Given the description of an element on the screen output the (x, y) to click on. 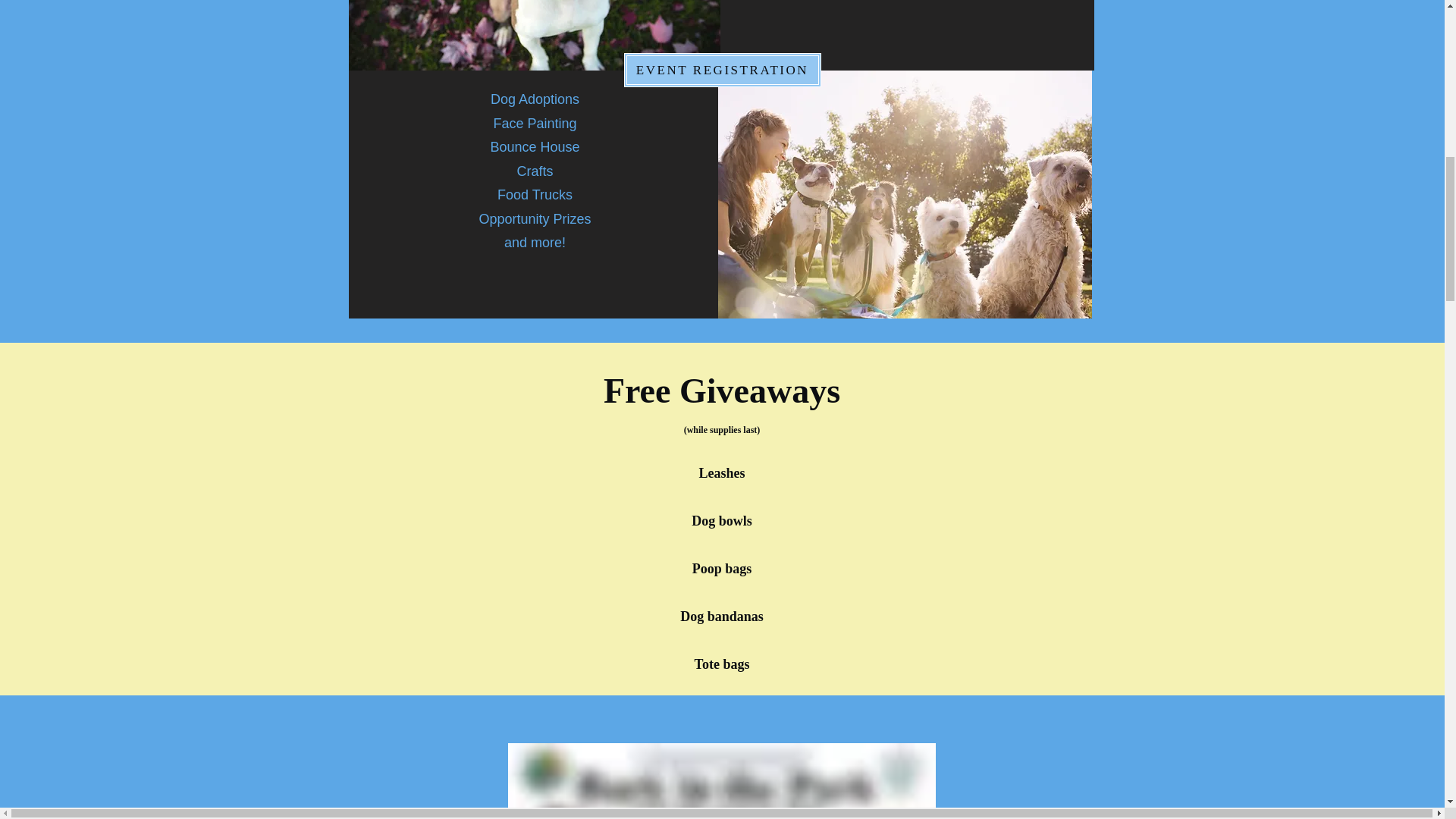
Dog (535, 35)
